Given the description of an element on the screen output the (x, y) to click on. 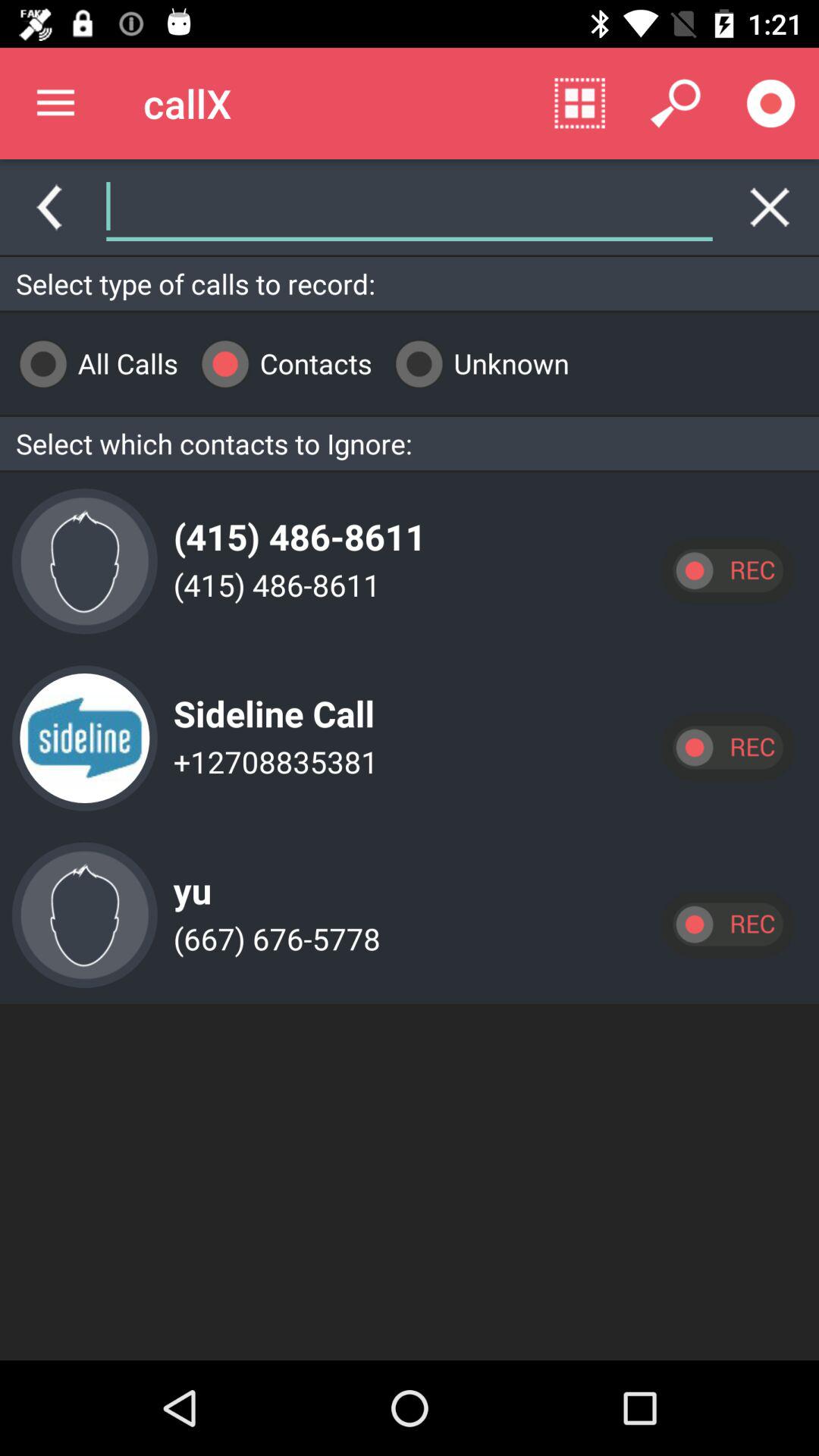
start recording (727, 747)
